Given the description of an element on the screen output the (x, y) to click on. 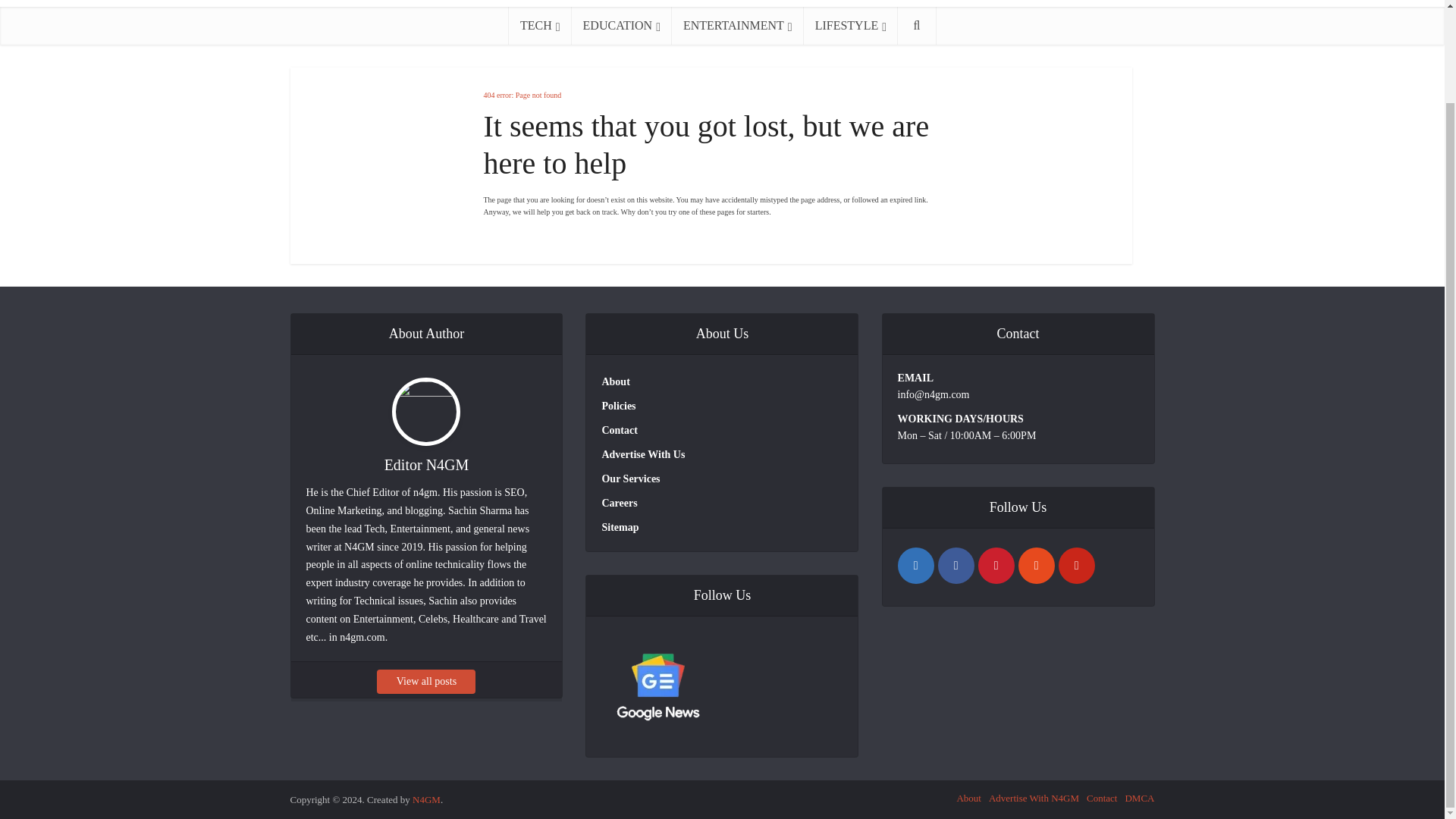
Pinterest (1076, 565)
Quora (996, 565)
EDUCATION (621, 25)
Linkedin (916, 565)
Follow Us (657, 688)
TECH (540, 25)
ENTERTAINMENT (737, 25)
LIFESTYLE (850, 25)
reddit (1035, 565)
Facebook (955, 565)
